Given the description of an element on the screen output the (x, y) to click on. 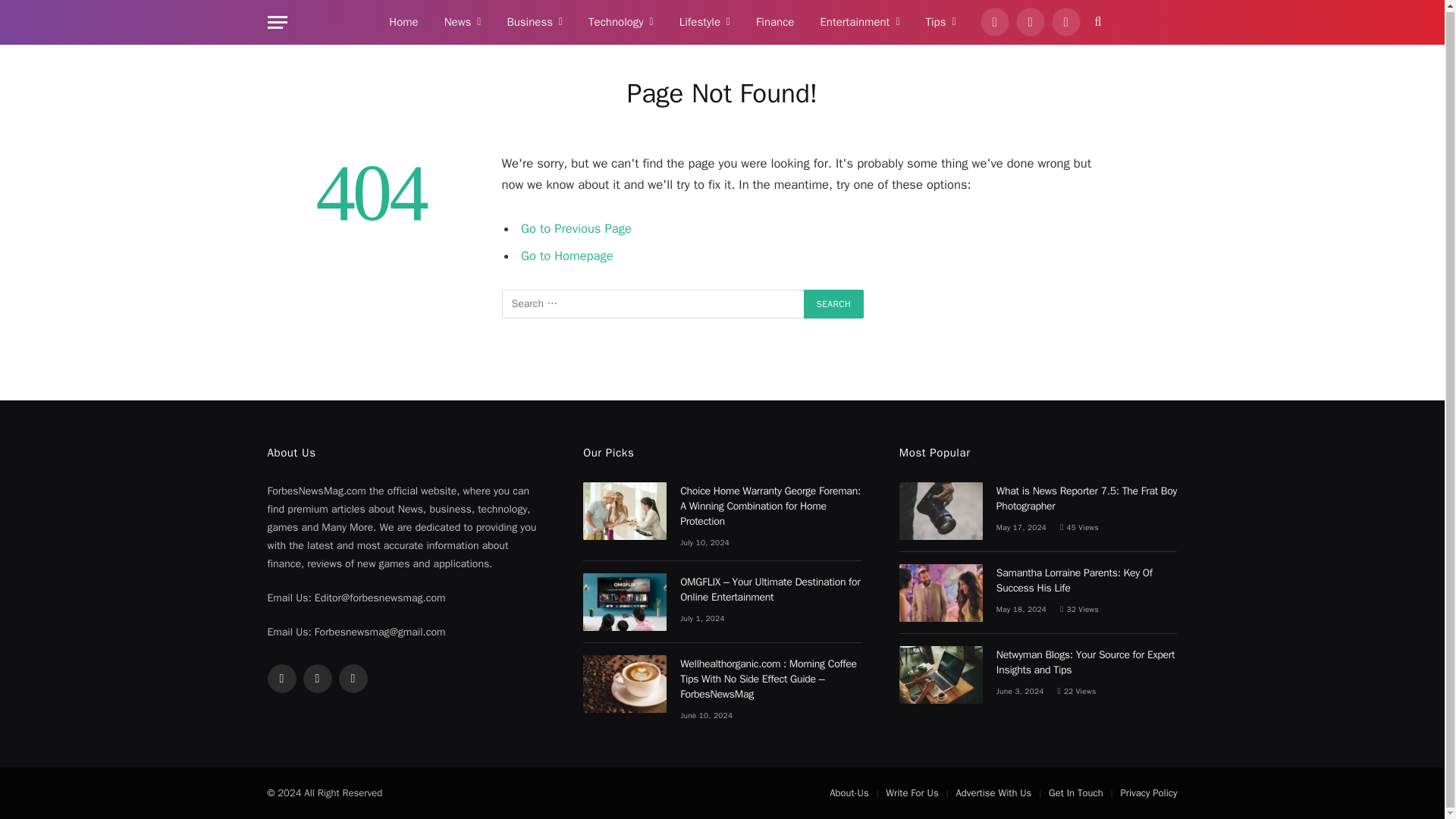
Business (534, 22)
Home (402, 22)
Search (833, 303)
Search (833, 303)
News (462, 22)
